Given the description of an element on the screen output the (x, y) to click on. 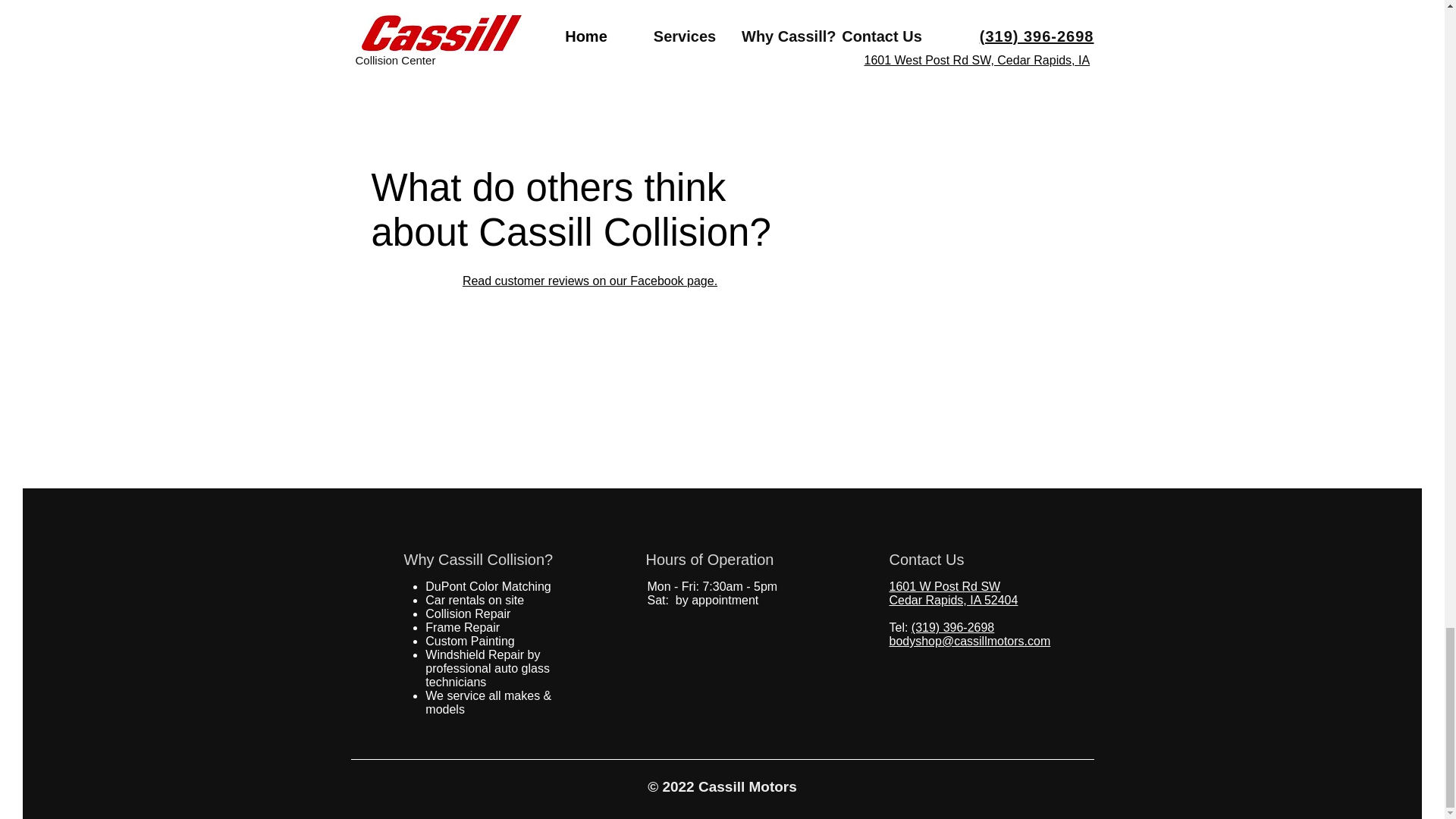
Read customer reviews on our Facebook page. (590, 280)
Cedar Rapids, IA 52404 (952, 599)
1601 W Post Rd SW (944, 585)
